Given the description of an element on the screen output the (x, y) to click on. 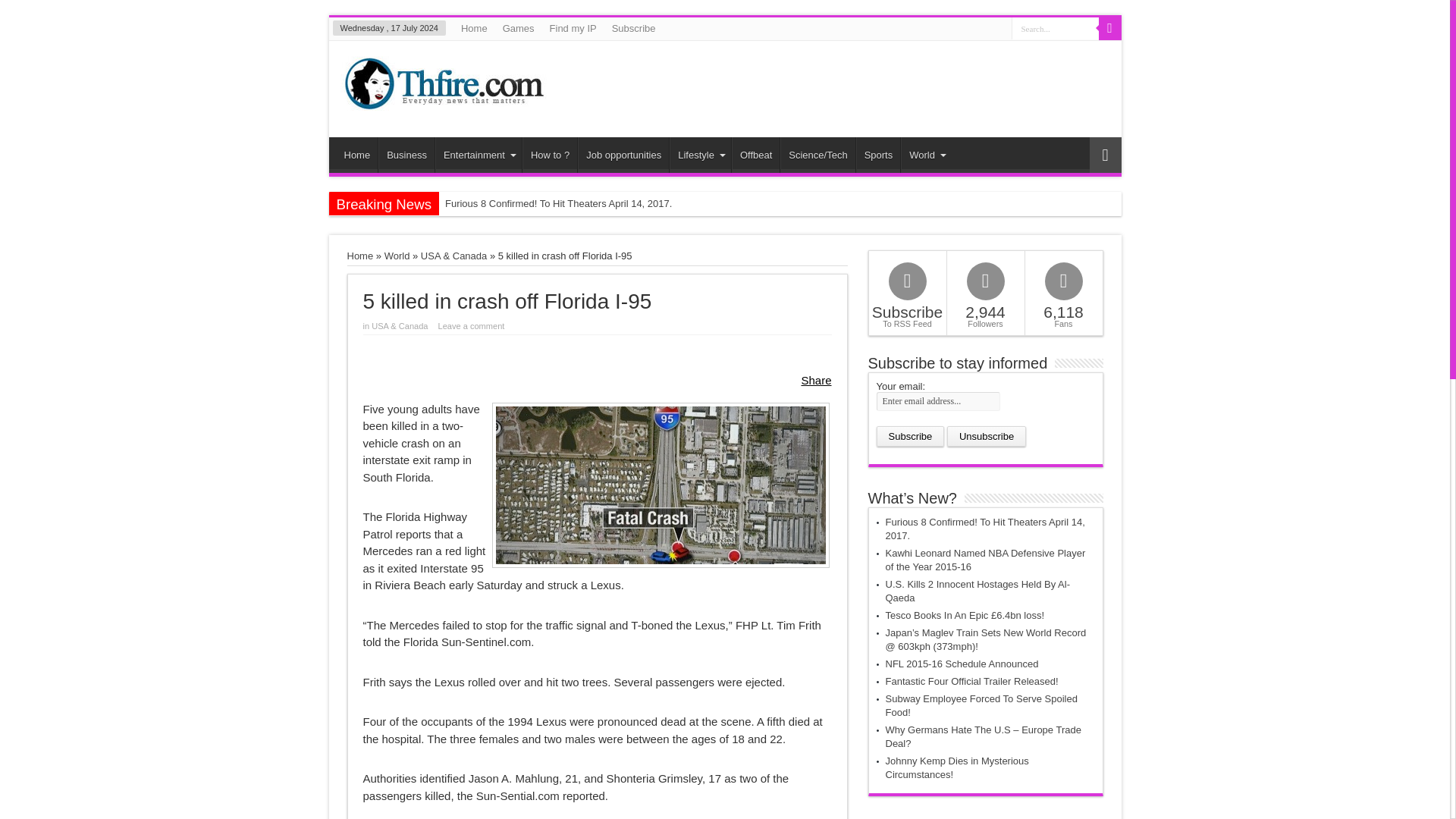
Home (357, 154)
Search (1109, 28)
Business (405, 154)
Comment on 5 killed in crash off Florida I-95 (475, 325)
Unsubscribe (986, 435)
Lifestyle (699, 154)
Offbeat (755, 154)
Subscribe (633, 28)
Thfire.com (443, 99)
World (397, 255)
Entertainment (478, 154)
Furious 8 Confirmed! To Hit Theaters April 14, 2017. (558, 203)
How to ? (549, 154)
Job opportunities (623, 154)
Search... (1055, 28)
